Given the description of an element on the screen output the (x, y) to click on. 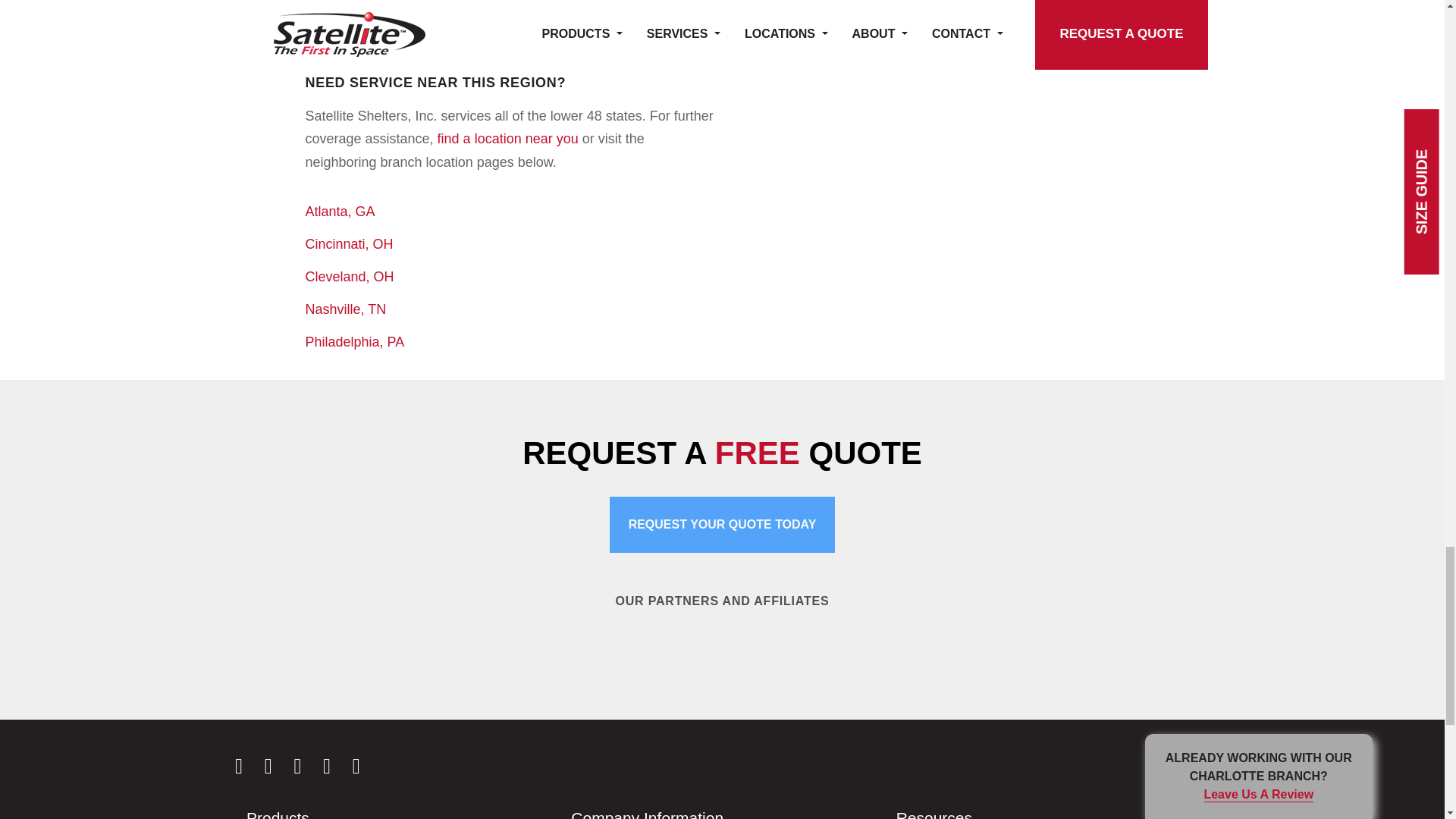
Find us on Twitter (336, 768)
Find us on LinkedIn (276, 768)
Find us on Facebook (247, 768)
Find us on YouTube (306, 768)
Send us an Email (365, 768)
